Given the description of an element on the screen output the (x, y) to click on. 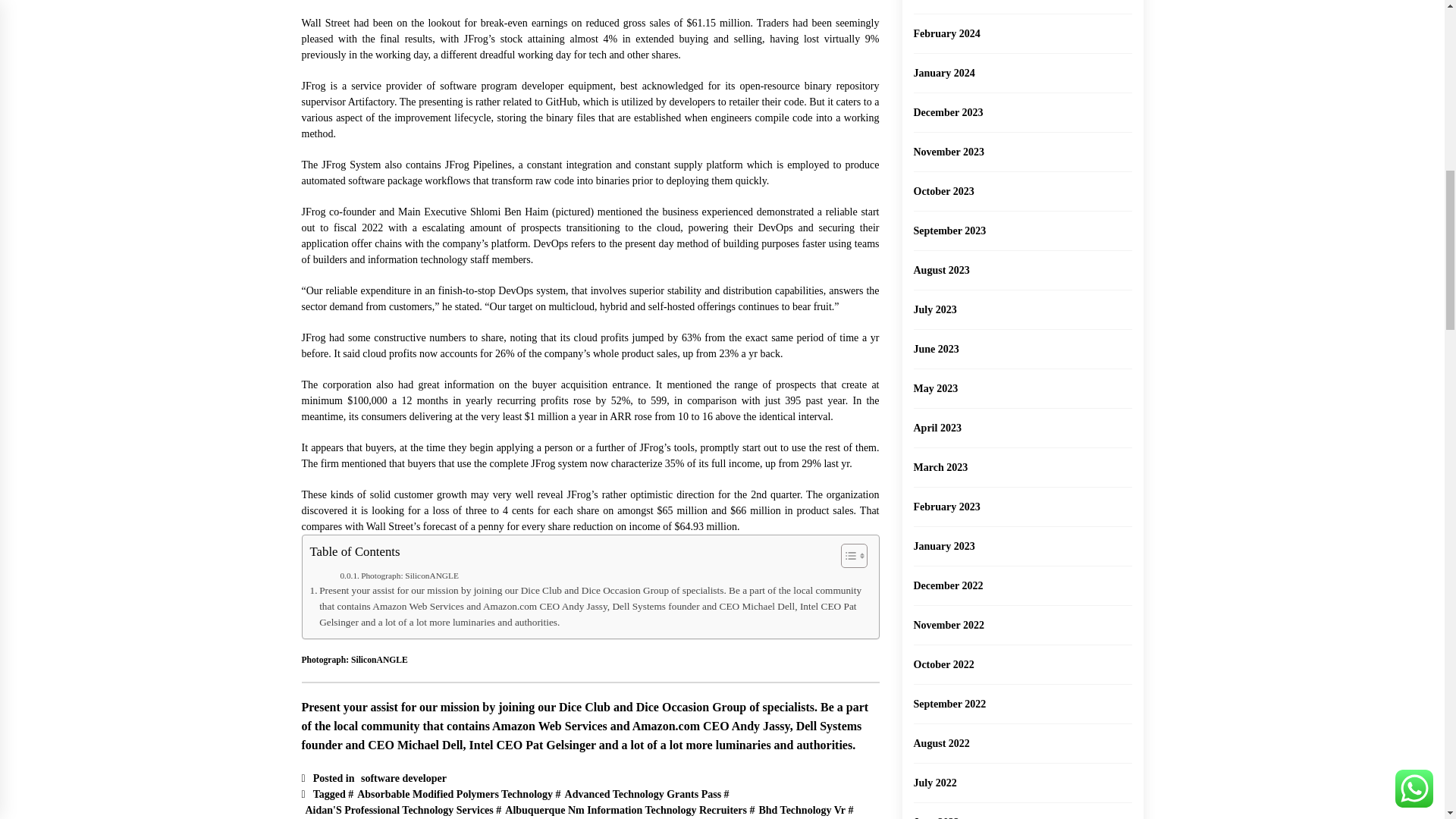
Photograph: SiliconANGLE (398, 575)
